Given the description of an element on the screen output the (x, y) to click on. 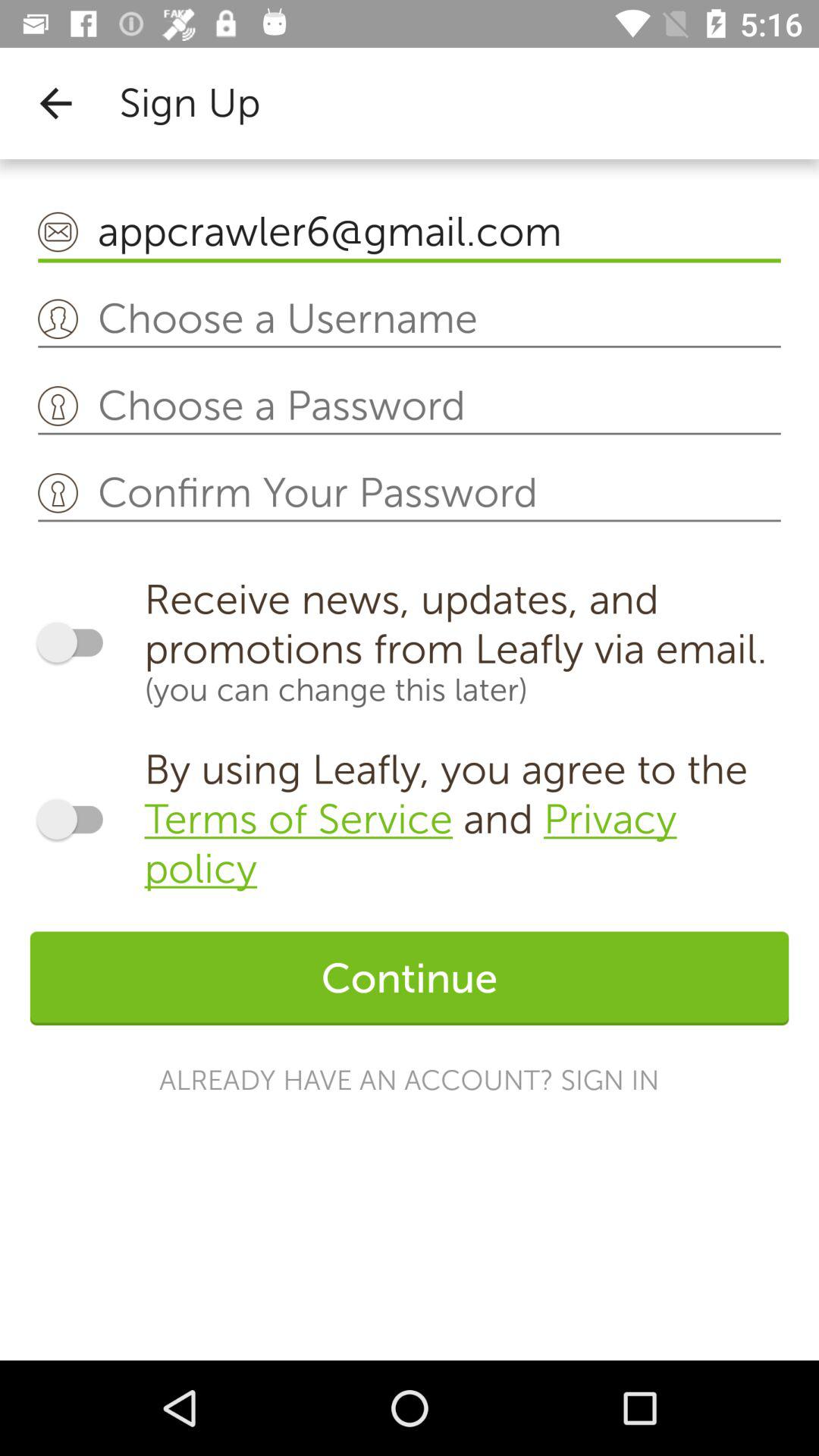
agree to terms and privacy policy (77, 819)
